Given the description of an element on the screen output the (x, y) to click on. 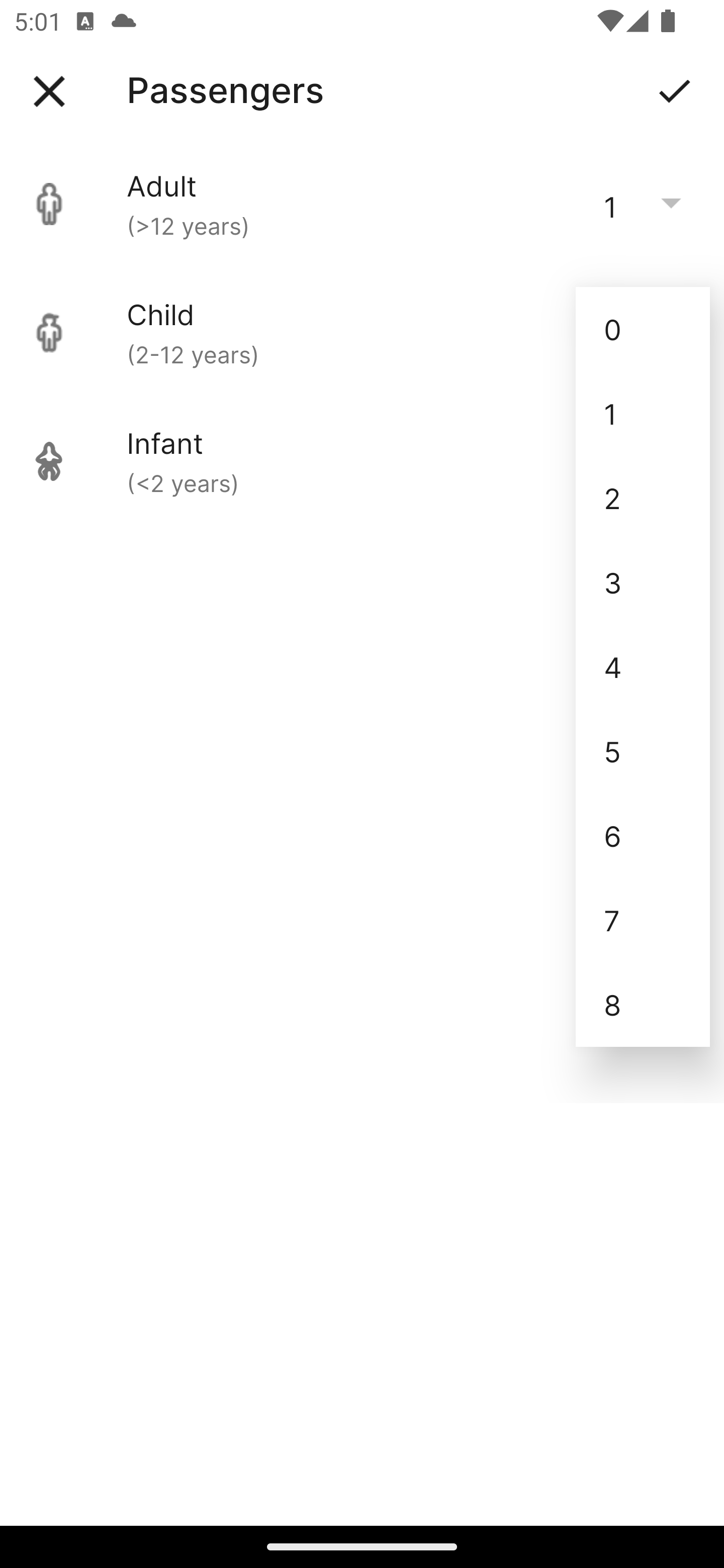
0 (642, 328)
1 (642, 413)
2 (642, 498)
3 (642, 582)
4 (642, 666)
5 (642, 750)
6 (642, 835)
7 (642, 920)
8 (642, 1004)
